Given the description of an element on the screen output the (x, y) to click on. 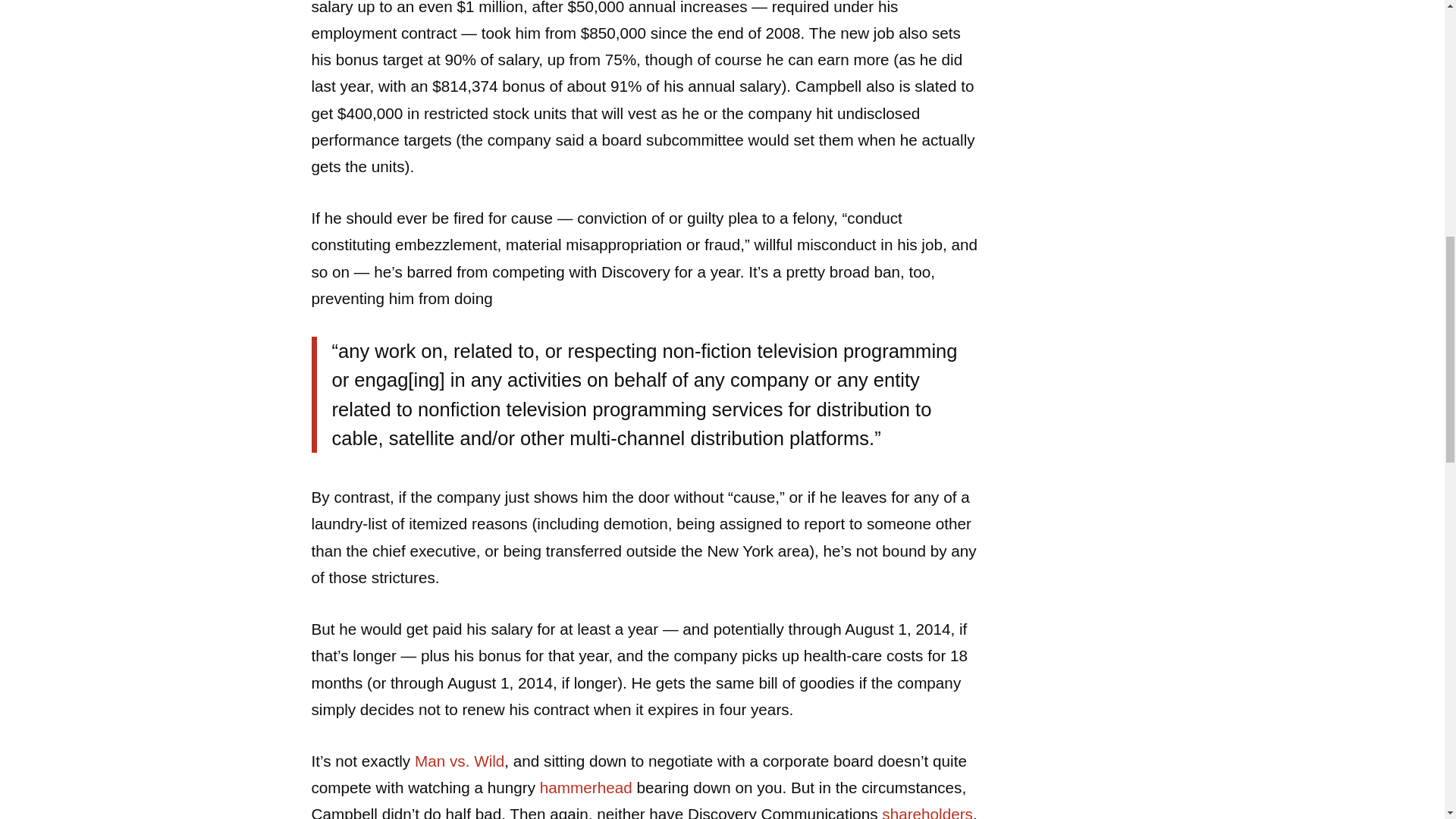
Man vs. Wild (458, 760)
shareholders (927, 812)
hammerhead (585, 787)
